Given the description of an element on the screen output the (x, y) to click on. 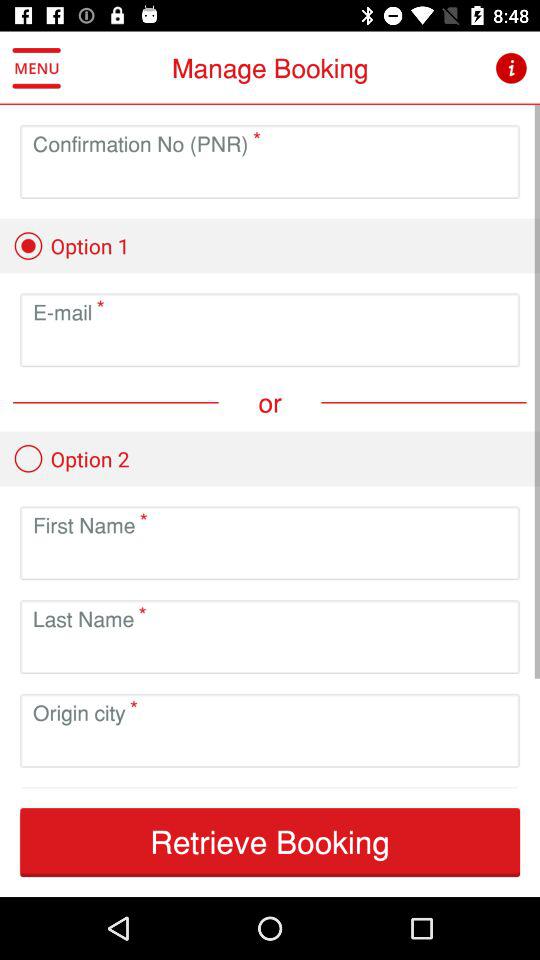
select the icon above the first name icon (71, 458)
